Given the description of an element on the screen output the (x, y) to click on. 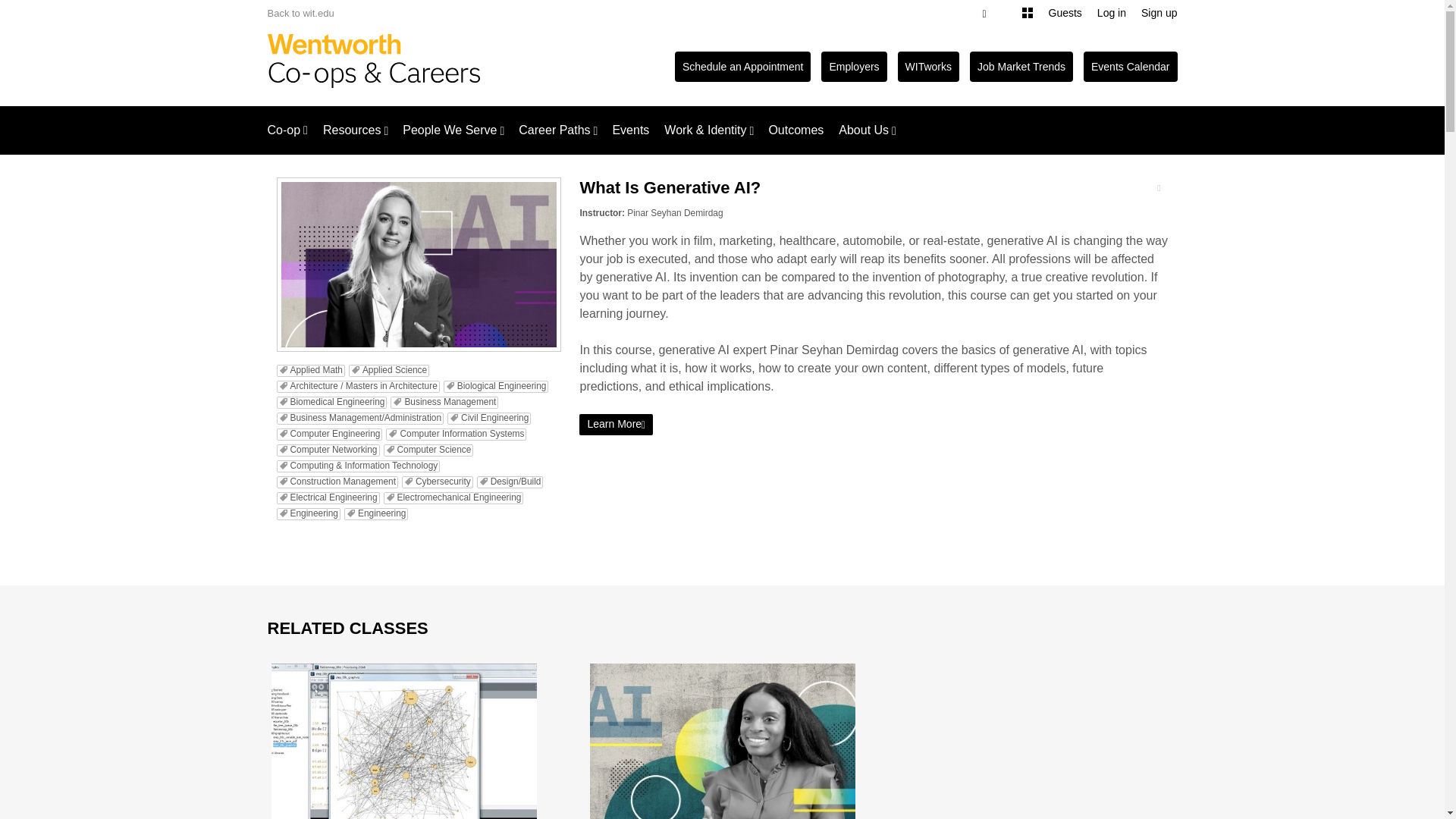
Submit Search (42, 9)
Back to wit.edu (299, 12)
Log in (1111, 13)
Sign up (1158, 13)
Events Calendar (1130, 66)
Co-op (286, 130)
WITworks (928, 66)
Employers (853, 66)
Resources (347, 130)
Schedule an Appointment (742, 66)
